Given the description of an element on the screen output the (x, y) to click on. 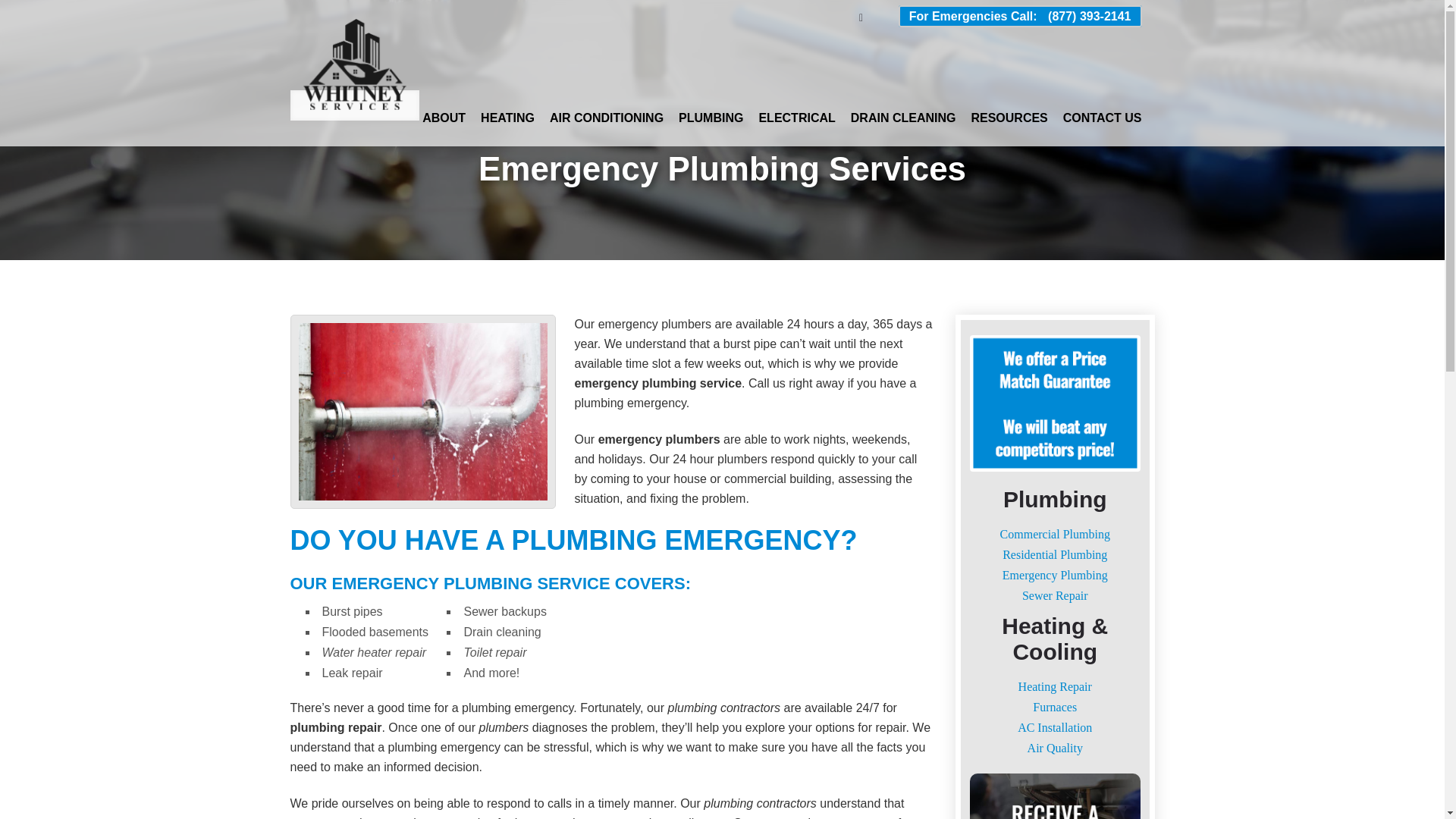
AIR CONDITIONING (606, 118)
PLUMBING (710, 118)
HEATING (507, 118)
